Given the description of an element on the screen output the (x, y) to click on. 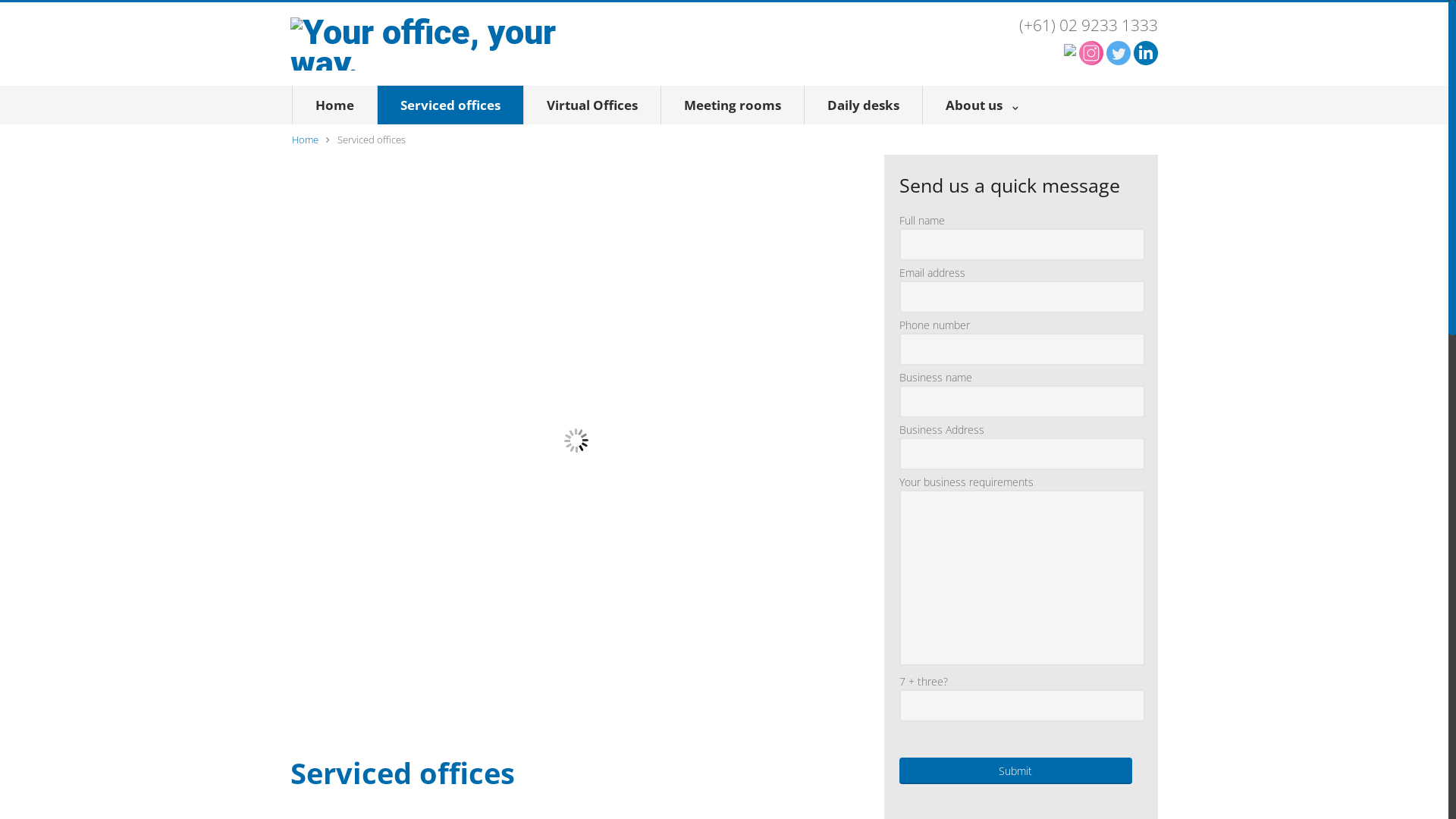
Your office, your way. Element type: hover (426, 43)
Virtual Offices Element type: text (591, 104)
Meeting rooms Element type: text (731, 104)
Home Element type: text (333, 104)
Serviced offices Element type: text (449, 104)
Daily desks Element type: text (862, 104)
About us Element type: text (981, 104)
Submit Element type: text (1015, 770)
Home Element type: text (304, 139)
